Given the description of an element on the screen output the (x, y) to click on. 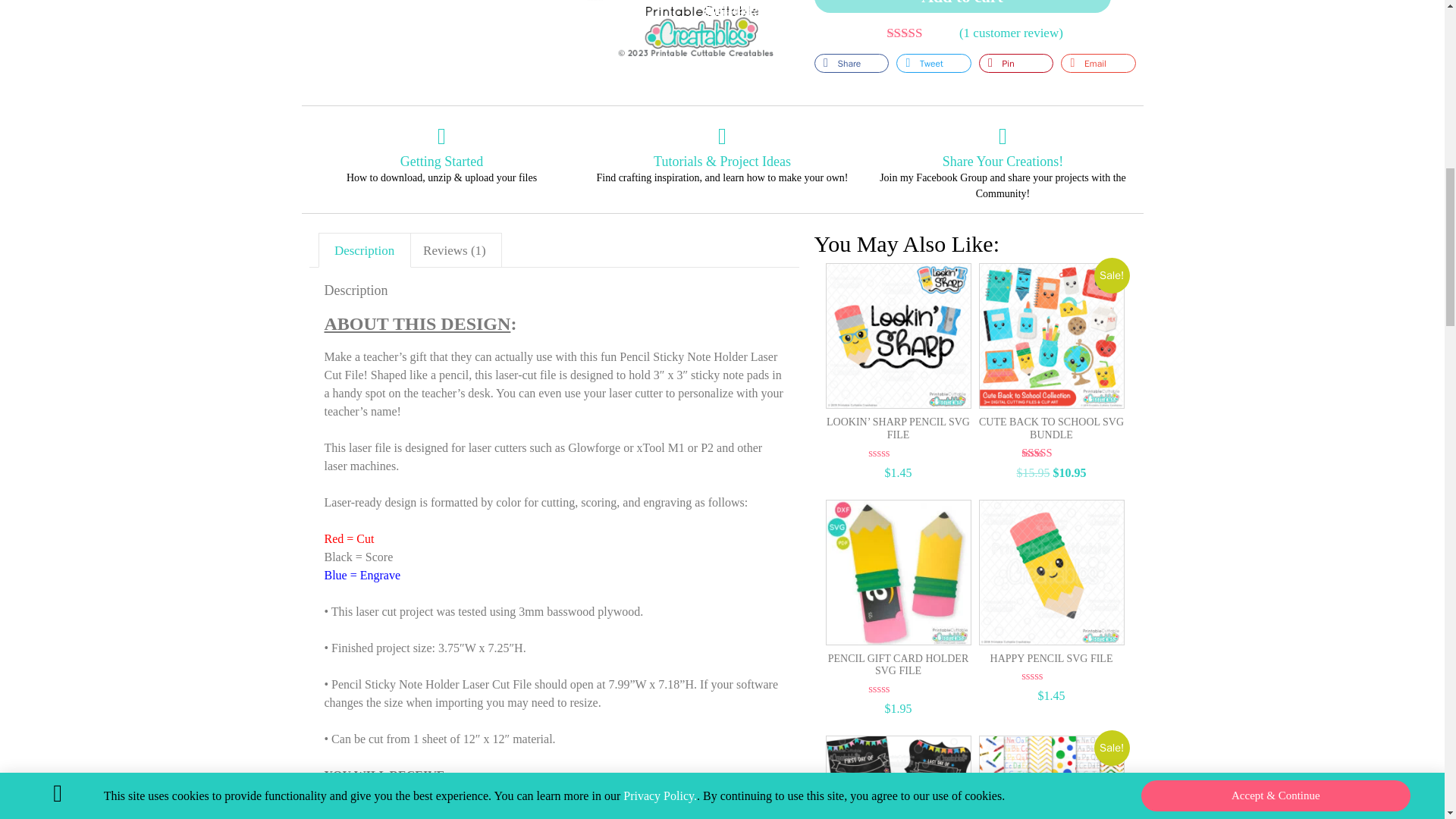
Pencil Sticky Note Holder Laser Cut File 1 (552, 32)
Rated 5.00 out of 5 (921, 32)
